Given the description of an element on the screen output the (x, y) to click on. 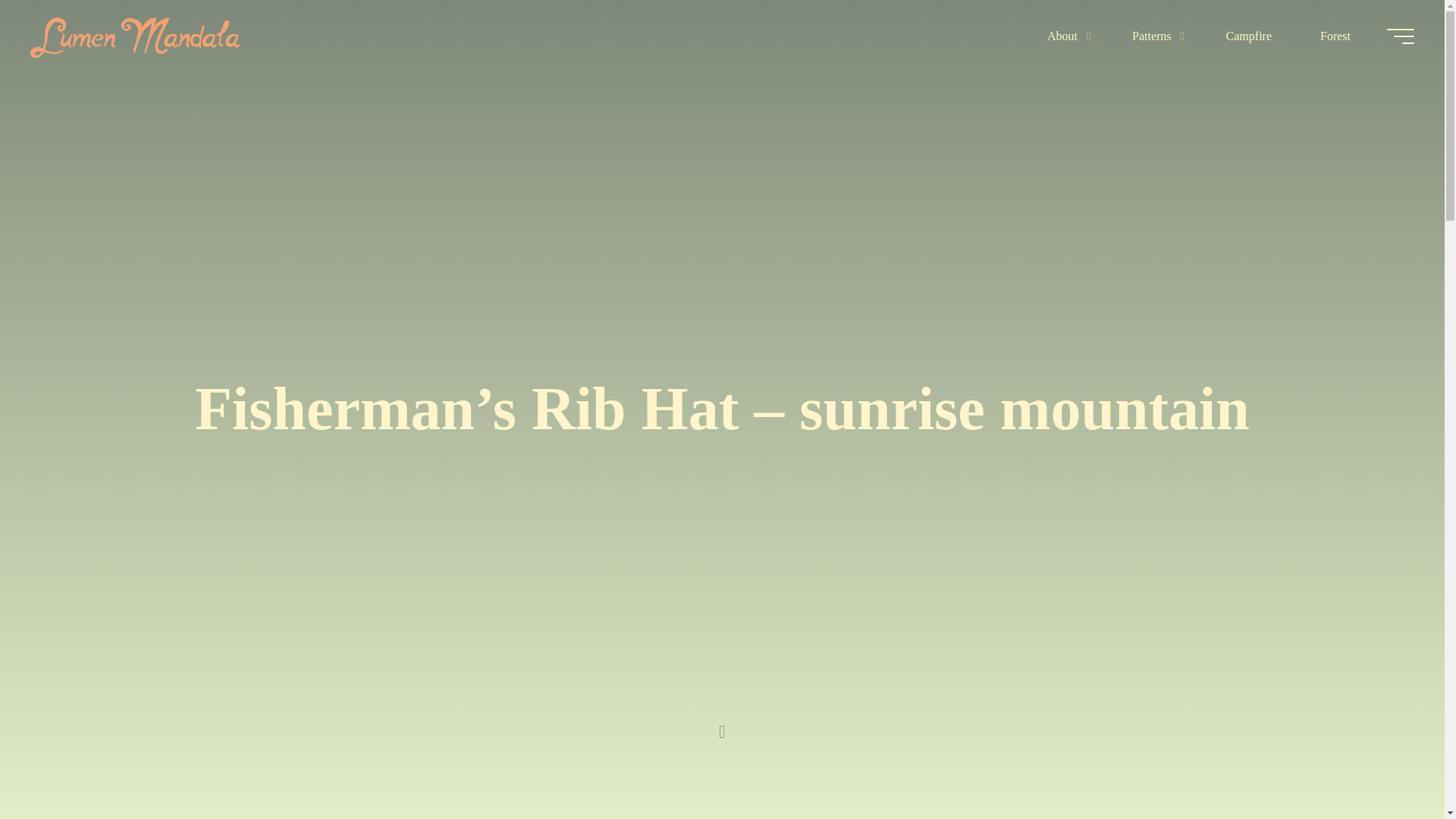
Read more (721, 724)
Forest (1334, 35)
About (1065, 35)
Campfire (1248, 35)
LumenMandala (135, 35)
Patterns (1155, 35)
